Given the description of an element on the screen output the (x, y) to click on. 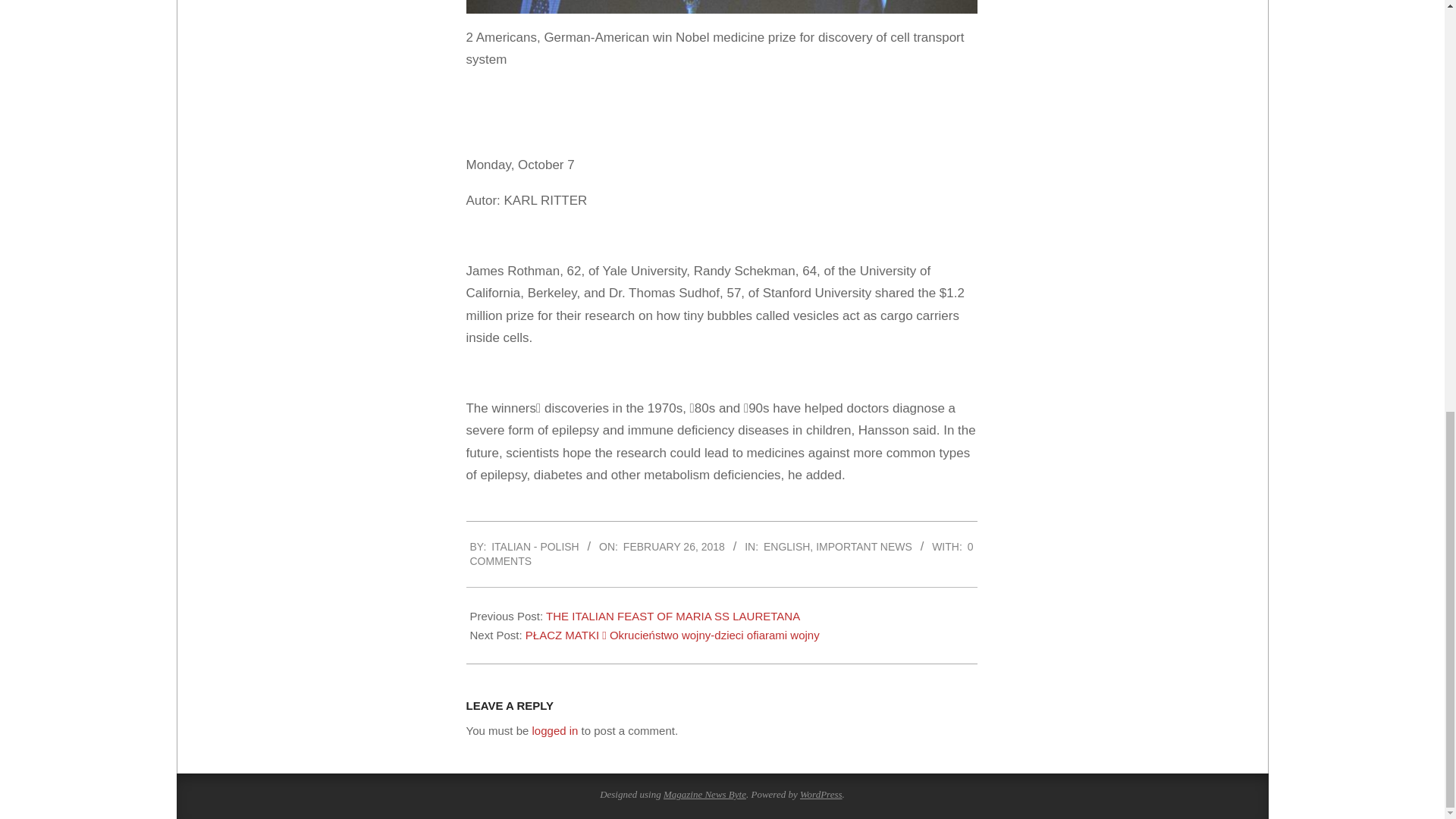
IMPORTANT NEWS (863, 546)
ENGLISH (785, 546)
ITALIAN - POLISH (535, 546)
THE ITALIAN FEAST OF MARIA SS LAURETANA (672, 615)
Magazine News Byte WordPress Theme (704, 794)
Monday, February 26, 2018, 3:03 pm (674, 546)
Magazine News Byte (704, 794)
logged in (555, 730)
0 COMMENTS (722, 553)
WordPress (821, 794)
